Given the description of an element on the screen output the (x, y) to click on. 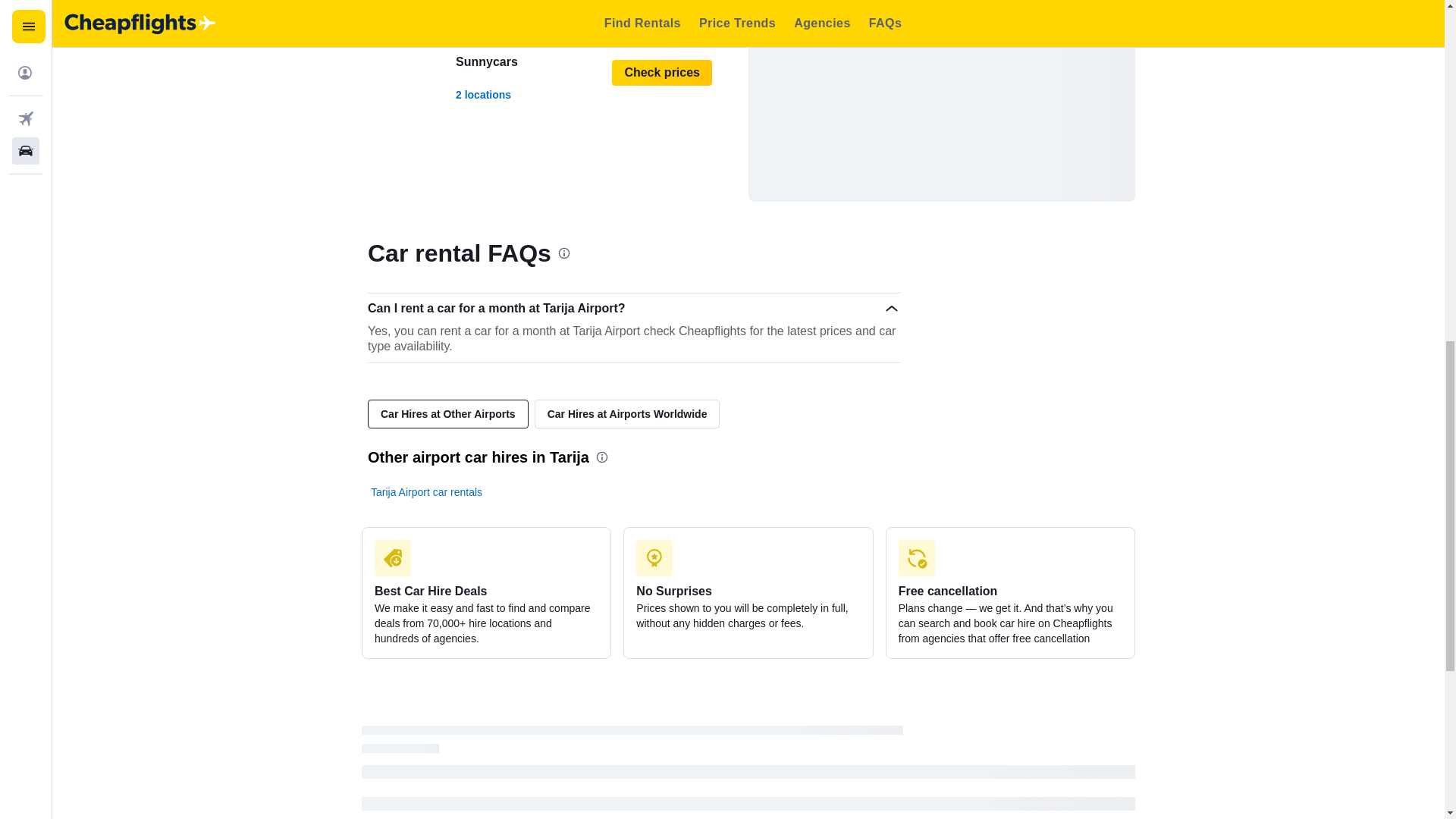
Check prices (548, 7)
